Given the description of an element on the screen output the (x, y) to click on. 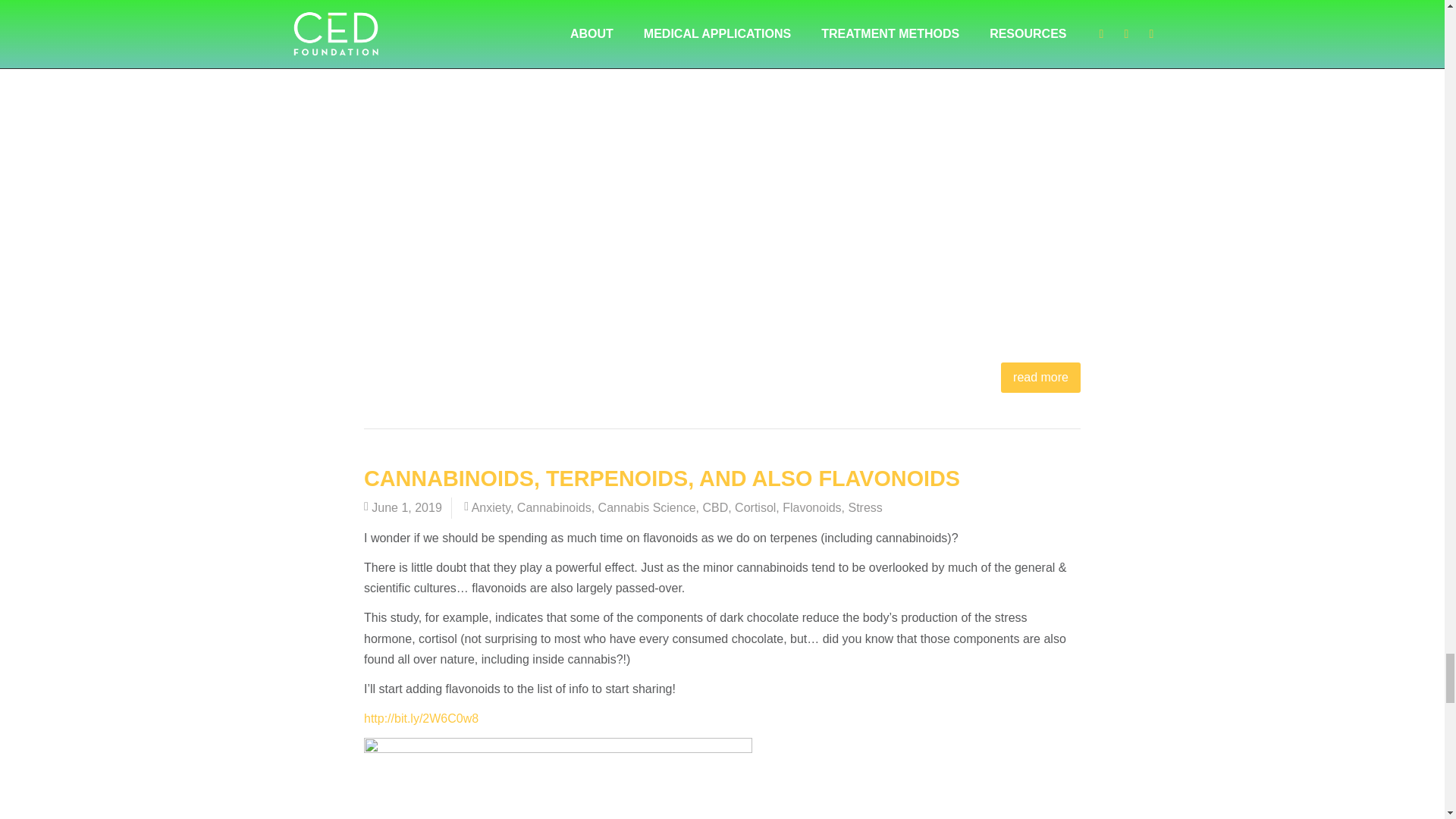
Permalink to Cannabinoids, Terpenoids, and ALSO flavonoids (661, 478)
